Given the description of an element on the screen output the (x, y) to click on. 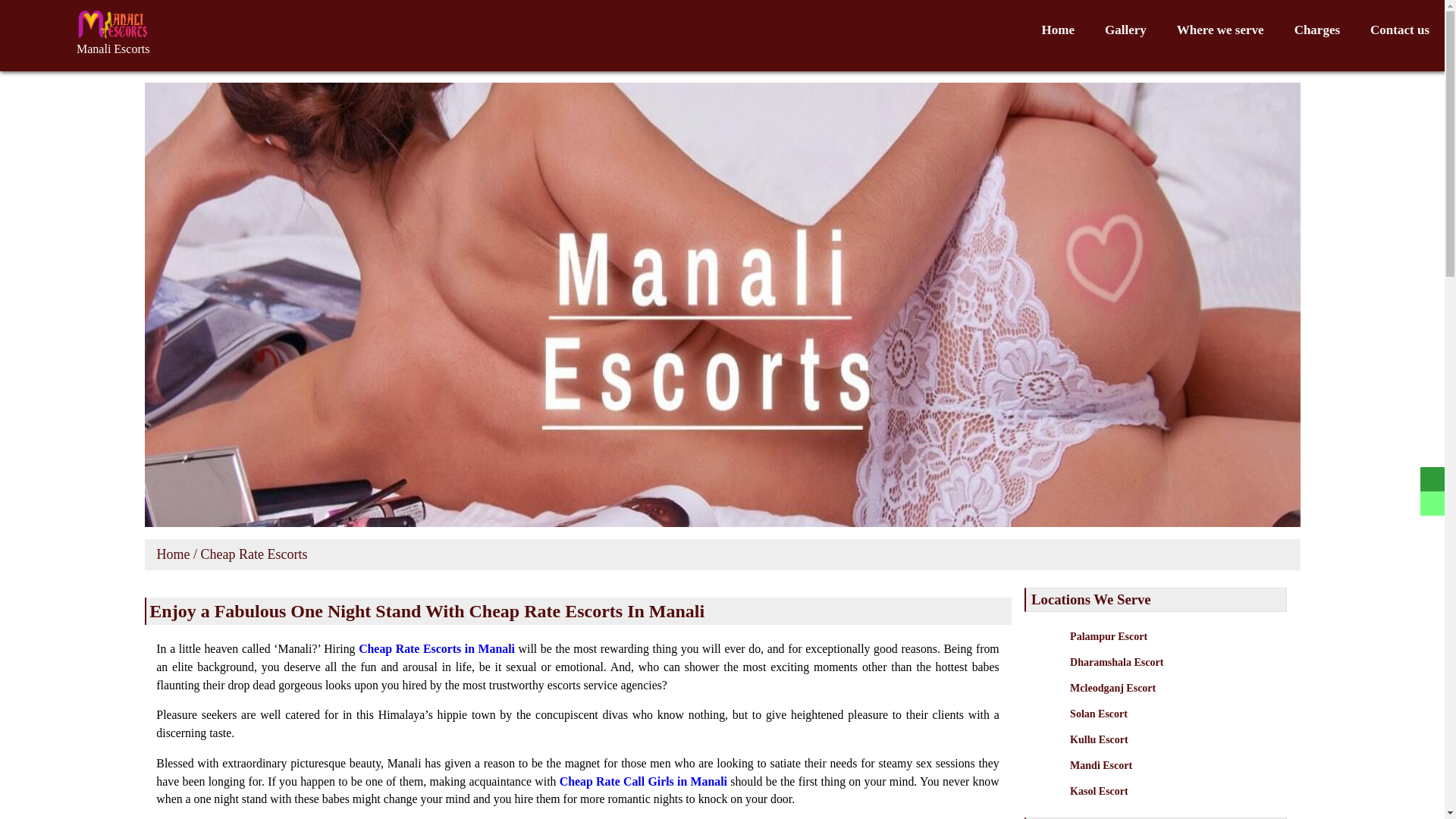
Manali Escorts (113, 48)
Cheap Rate Escorts in Manali (436, 648)
Charges (1317, 30)
Palampur Escort (1170, 649)
Call Now (113, 30)
Gallery (1125, 30)
 Kasol Escort (1170, 802)
Solan Escort (1170, 727)
Cheap Rate Call Girls in Manali (642, 780)
Mcleodganj Escort (1170, 701)
 Kullu Escort (1170, 753)
Call Now (113, 48)
Kasol Escort (1170, 802)
Mandi Escort (1170, 779)
Palampur Escort (1170, 649)
